Given the description of an element on the screen output the (x, y) to click on. 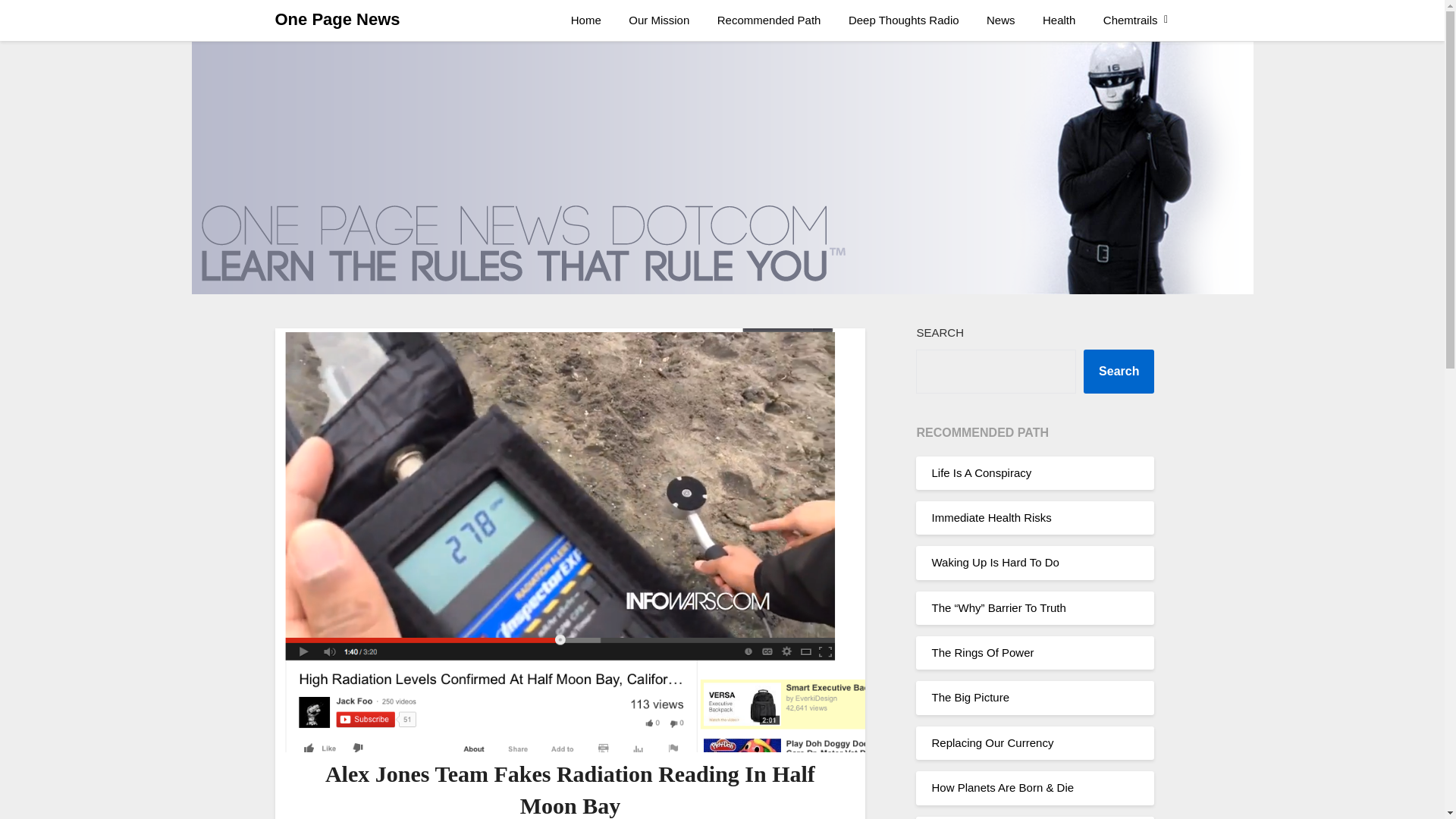
Health (1058, 20)
The Big Picture (970, 697)
Our Mission (658, 20)
Life Is A Conspiracy (980, 472)
One Page News (336, 19)
Chemtrails (1130, 20)
Search (1118, 371)
Home (585, 20)
The Rings Of Power (982, 652)
News (1000, 20)
